Given the description of an element on the screen output the (x, y) to click on. 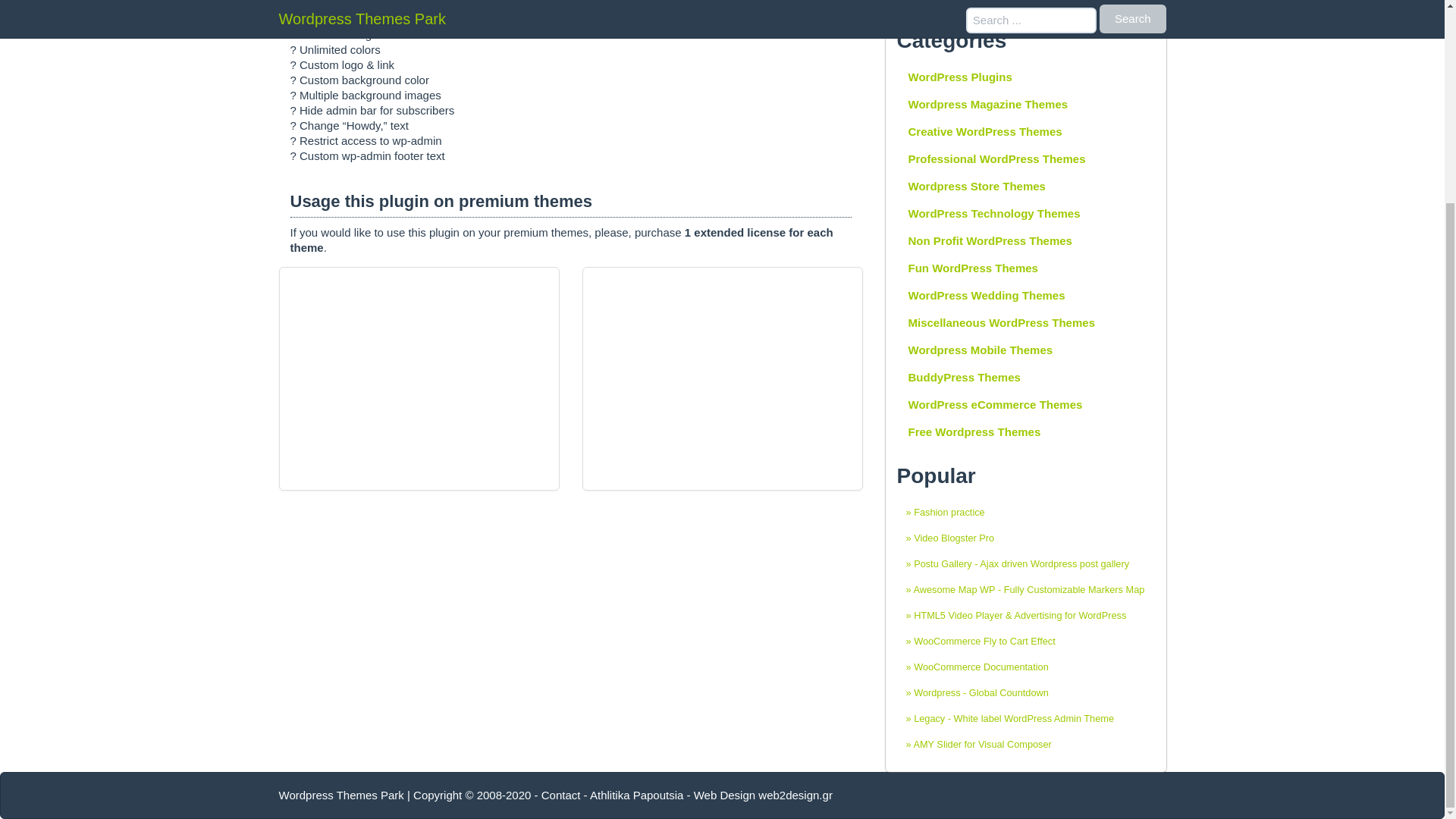
Creative WordPress Themes (1025, 131)
Athlitika Papoutsia (635, 794)
Professional WordPress Themes (1025, 158)
Contact (560, 794)
WordPress Technology Themes (1025, 213)
BuddyPress Themes (1025, 377)
WordPress Wedding Themes (1025, 295)
Athlitika Papoutsia (635, 794)
